Given the description of an element on the screen output the (x, y) to click on. 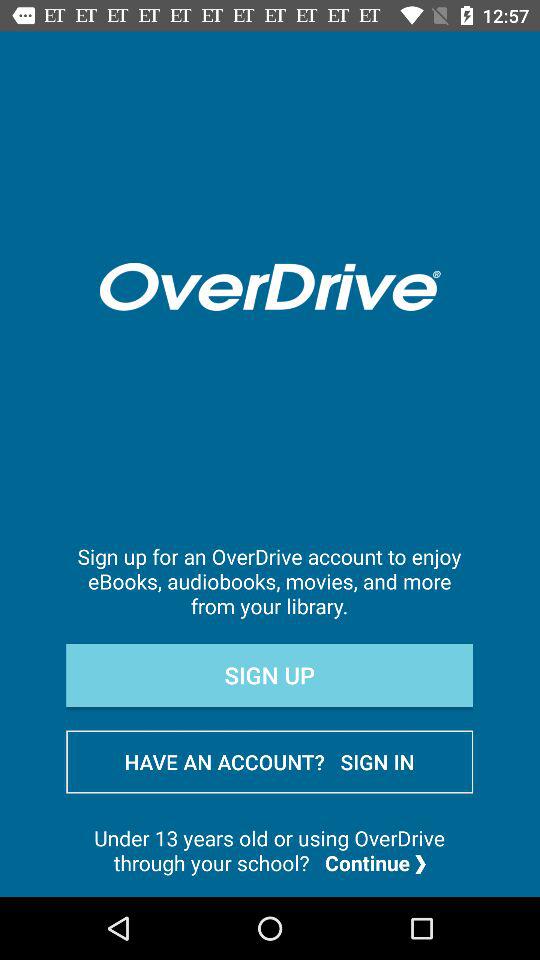
click the item below the have an account item (269, 850)
